Given the description of an element on the screen output the (x, y) to click on. 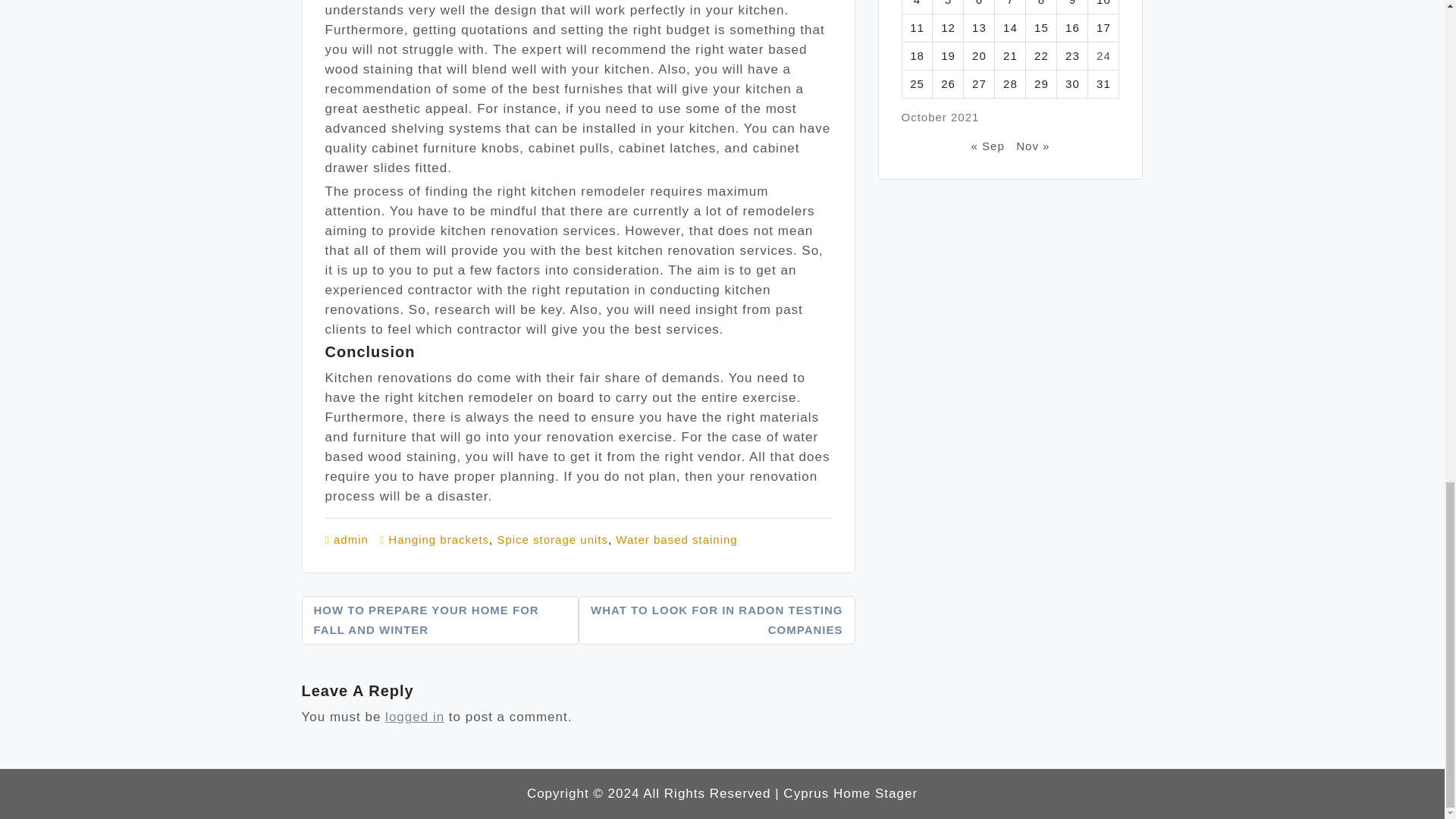
Hanging brackets (438, 539)
admin (350, 539)
HOW TO PREPARE YOUR HOME FOR FALL AND WINTER (439, 620)
24 (1103, 55)
logged in (414, 716)
Water based staining (675, 539)
Spice storage units (552, 539)
WHAT TO LOOK FOR IN RADON TESTING COMPANIES (716, 620)
